Given the description of an element on the screen output the (x, y) to click on. 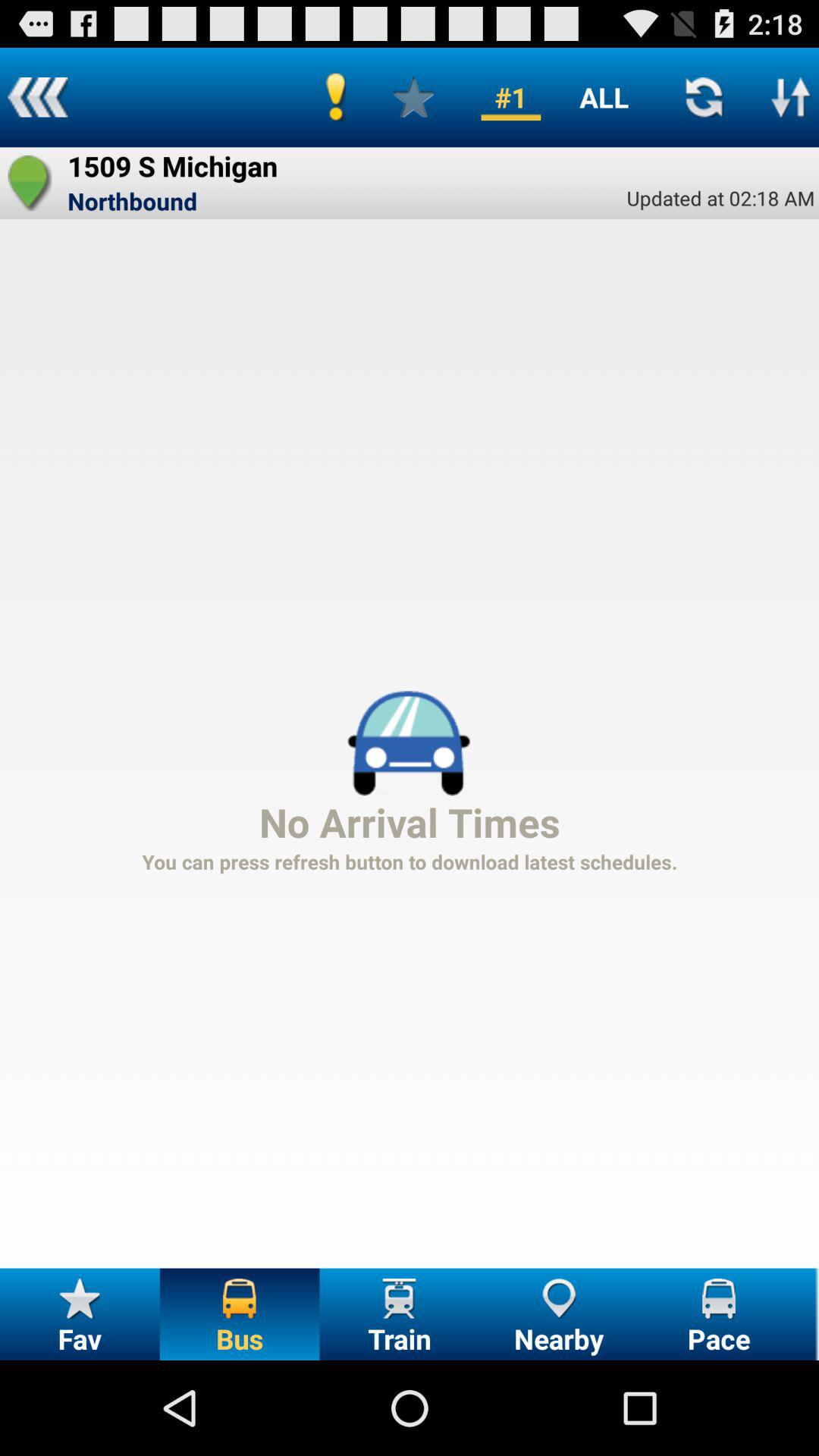
select button next to the   #1 (413, 97)
